Given the description of an element on the screen output the (x, y) to click on. 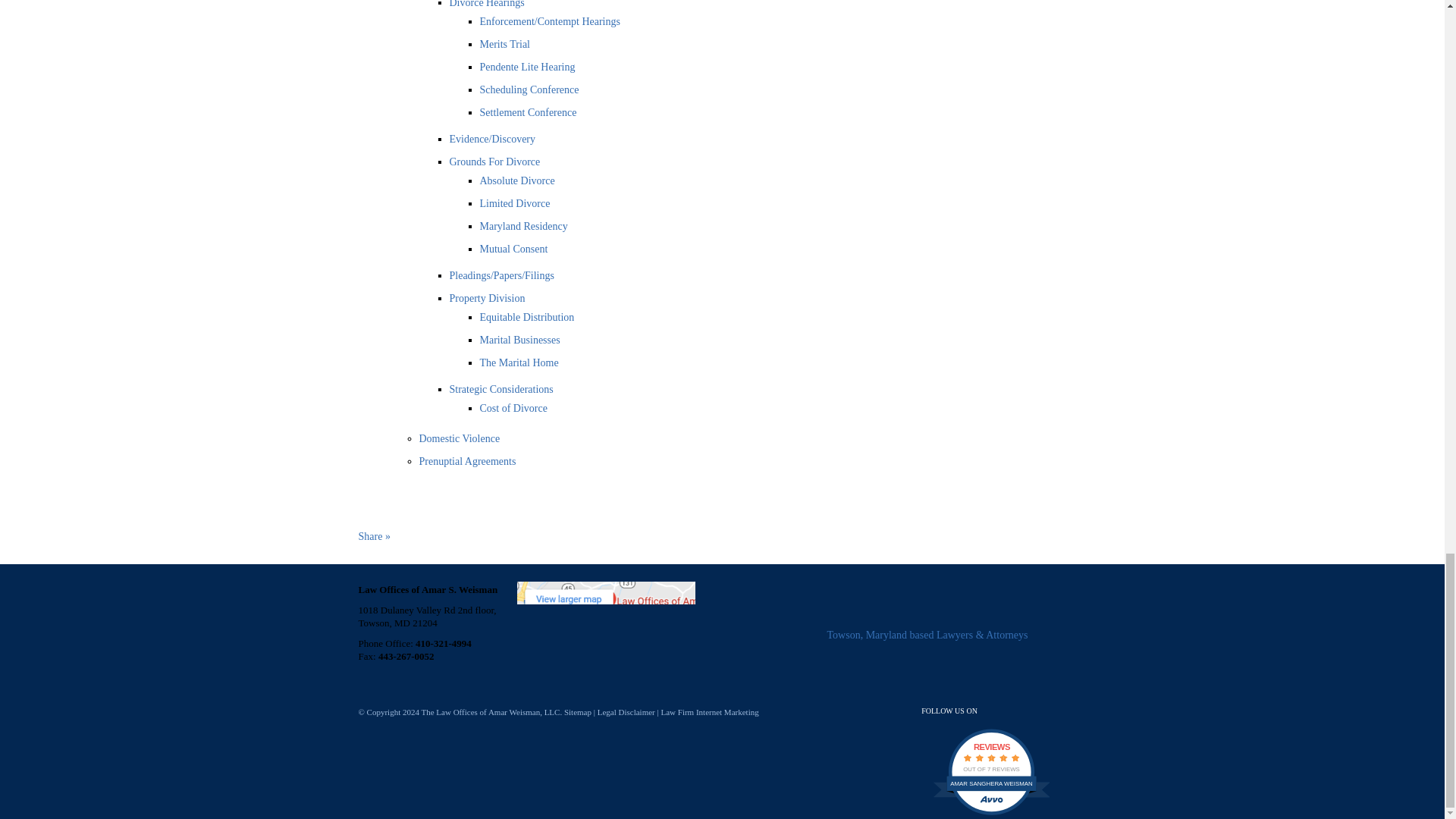
Twitter (1041, 713)
LinkedIn (1014, 713)
Facebook (1070, 713)
